Given the description of an element on the screen output the (x, y) to click on. 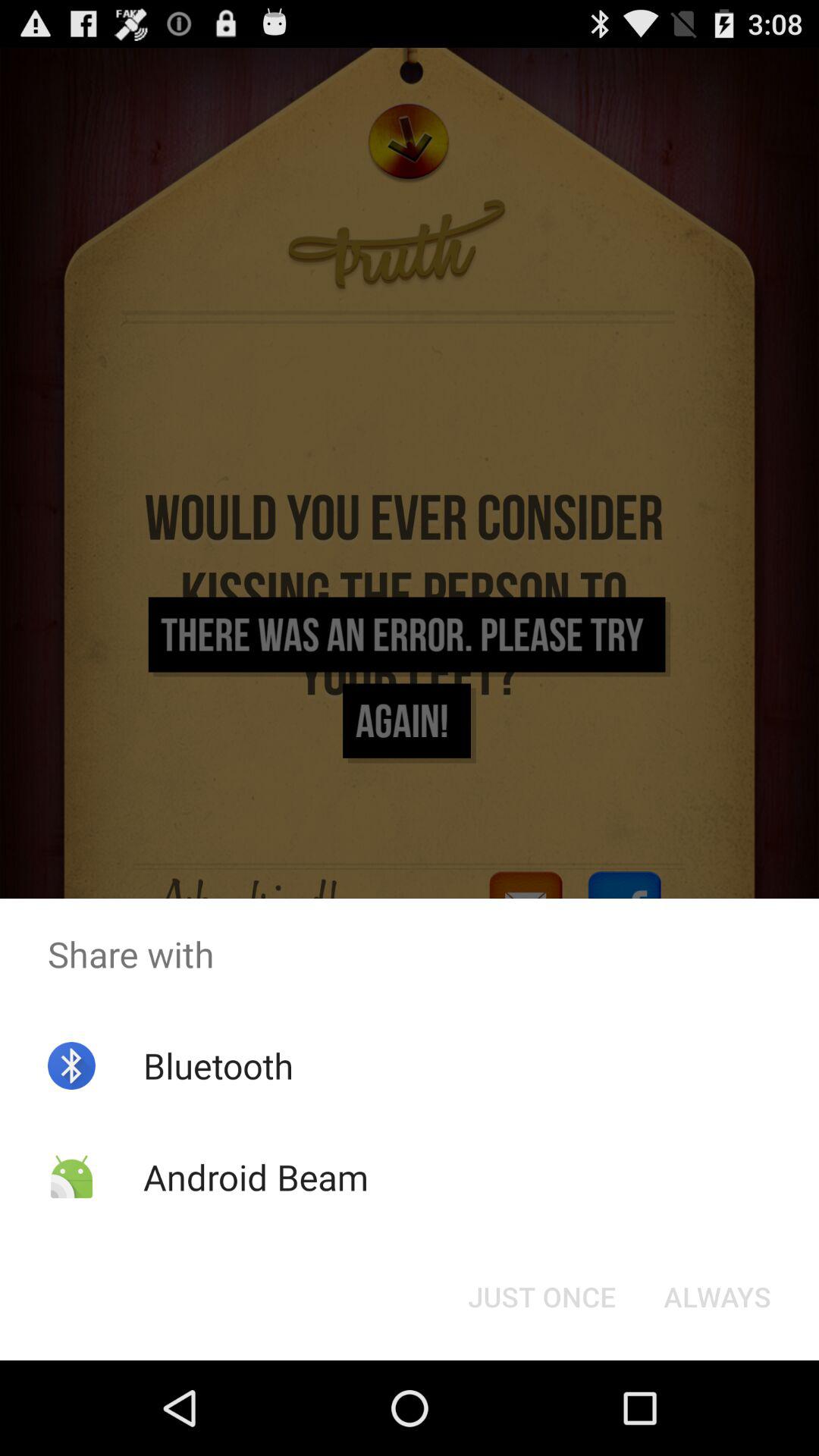
flip to the always button (717, 1296)
